Given the description of an element on the screen output the (x, y) to click on. 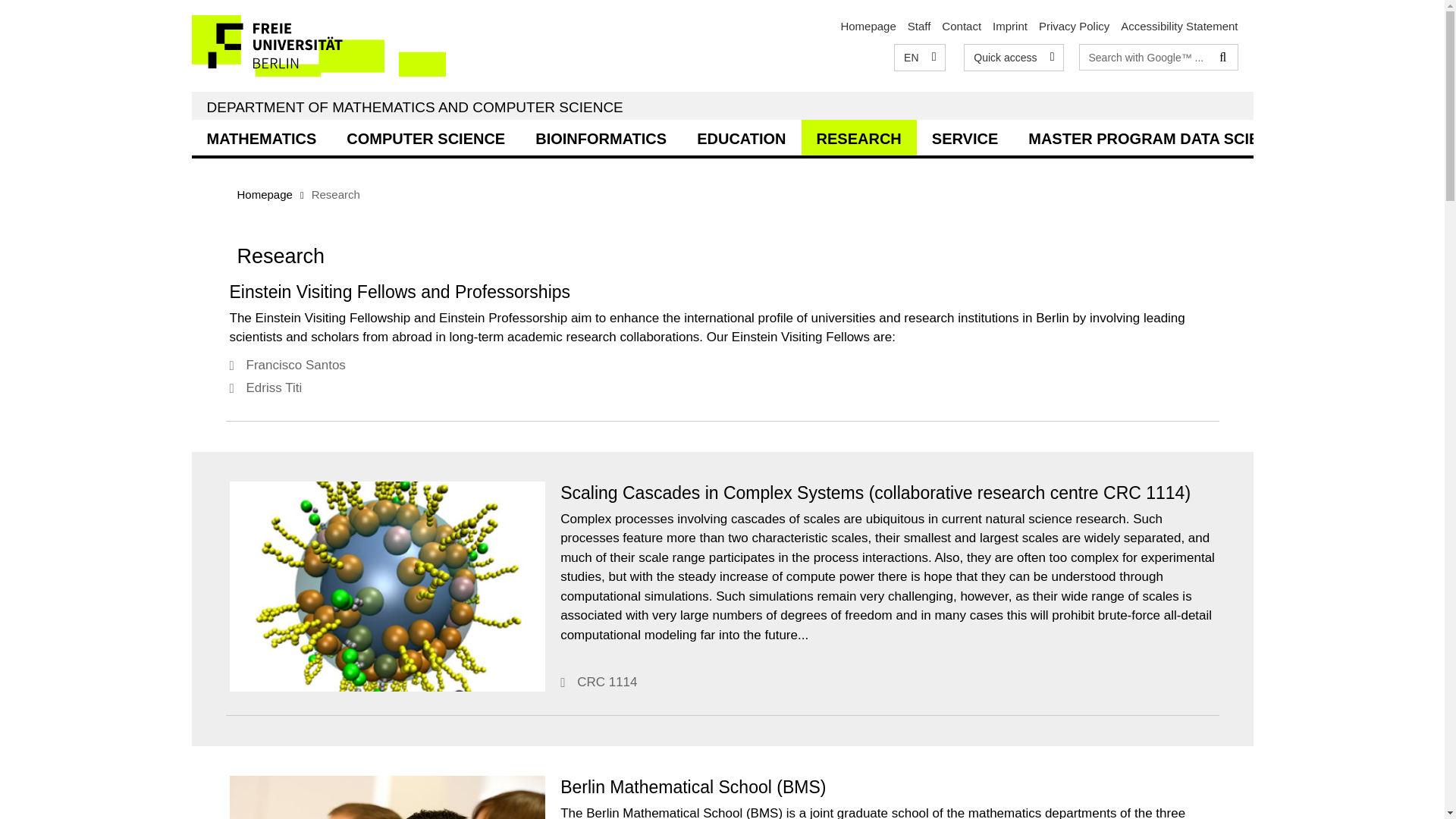
Homepage (867, 25)
Contact (961, 25)
Accessibility Statement (1179, 25)
Imprint (1009, 25)
Staff (919, 25)
Privacy Policy (1074, 25)
